Given the description of an element on the screen output the (x, y) to click on. 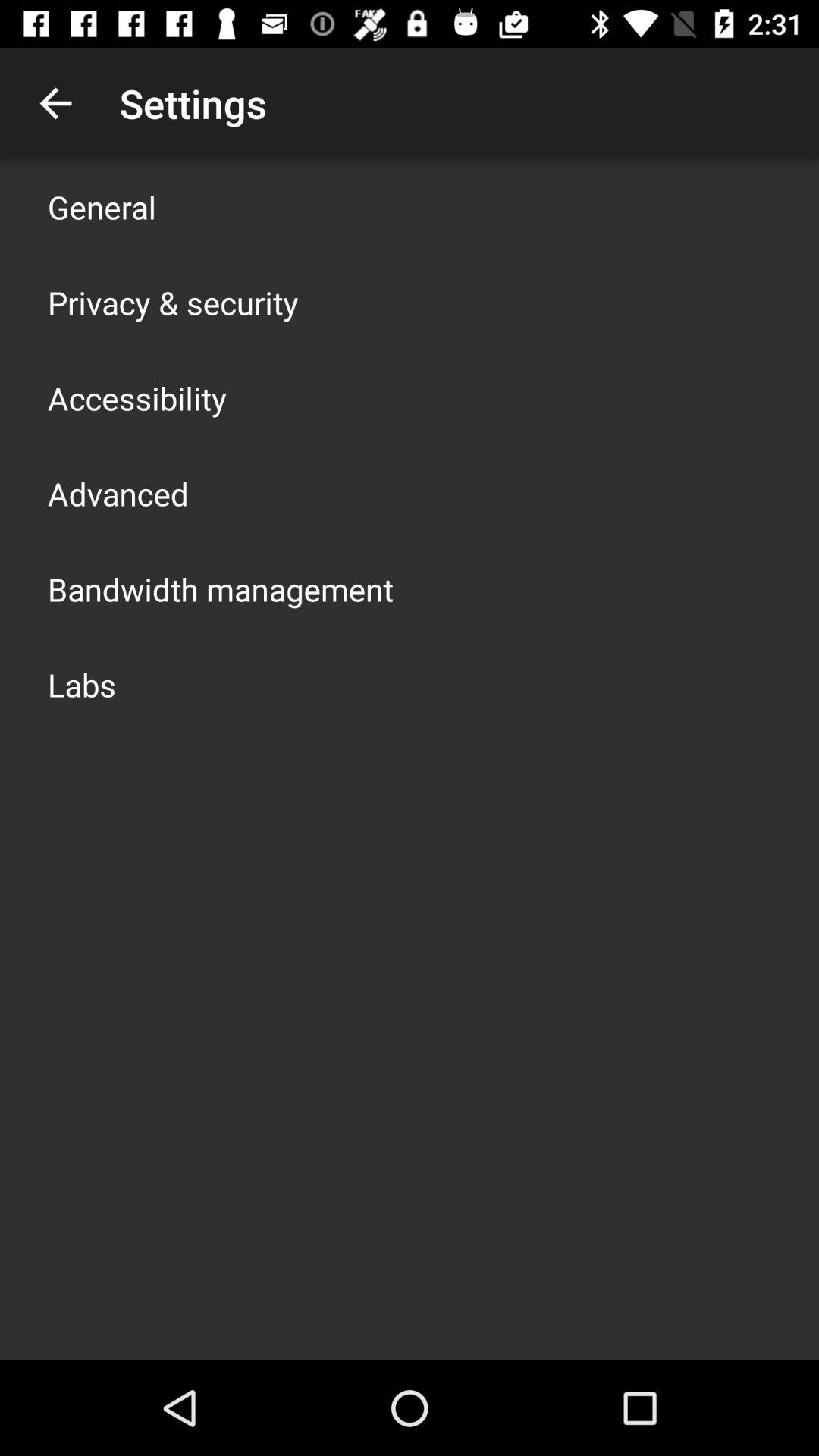
open the app to the left of settings app (55, 103)
